Given the description of an element on the screen output the (x, y) to click on. 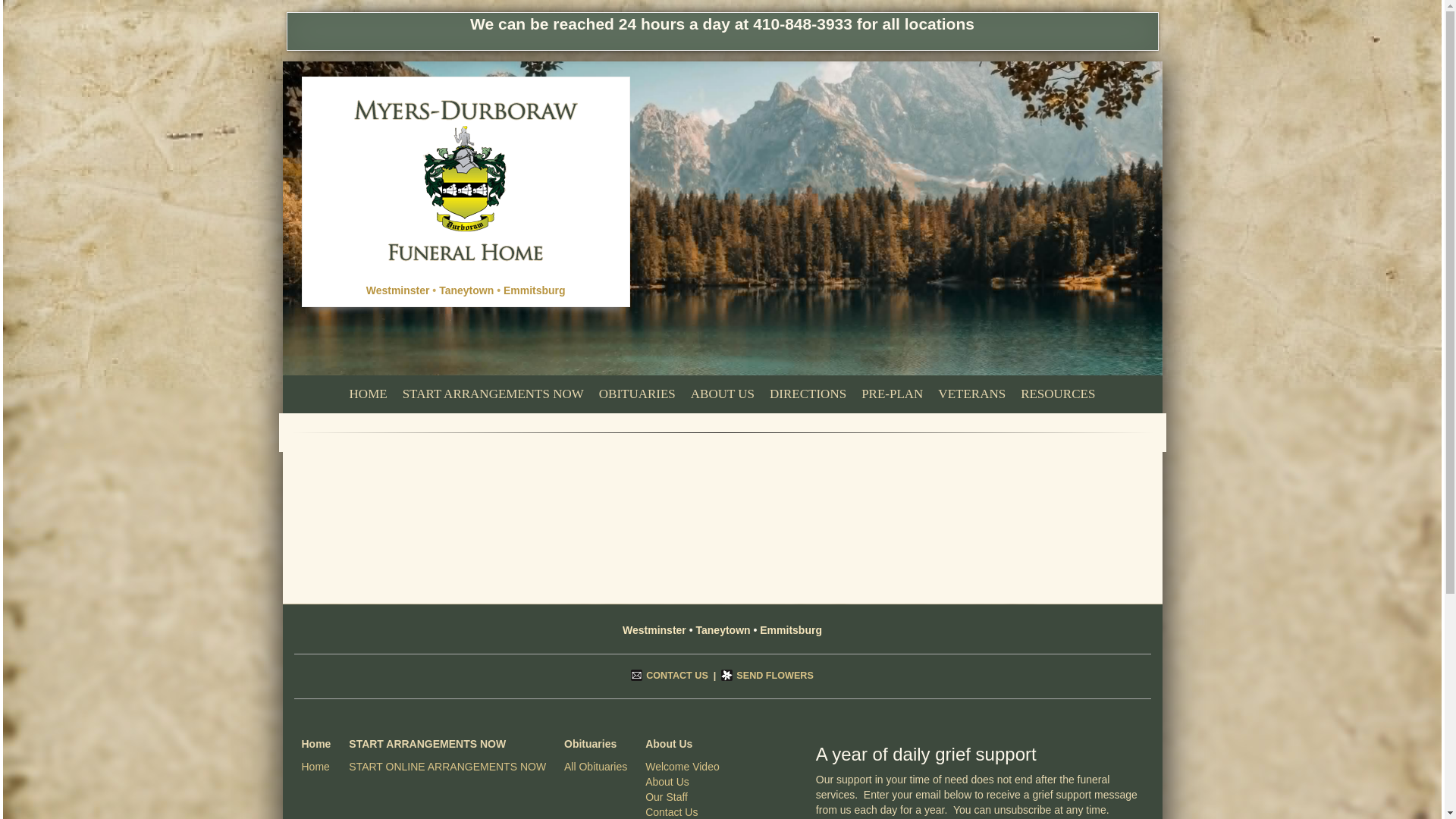
Taneytown (466, 290)
PRE-PLAN (891, 393)
Emmitsburg (534, 290)
RESOURCES (1057, 393)
Westminster (397, 290)
HOME (368, 393)
DIRECTIONS (807, 393)
VETERANS (971, 393)
START ARRANGEMENTS NOW (492, 393)
OBITUARIES (636, 393)
